Given the description of an element on the screen output the (x, y) to click on. 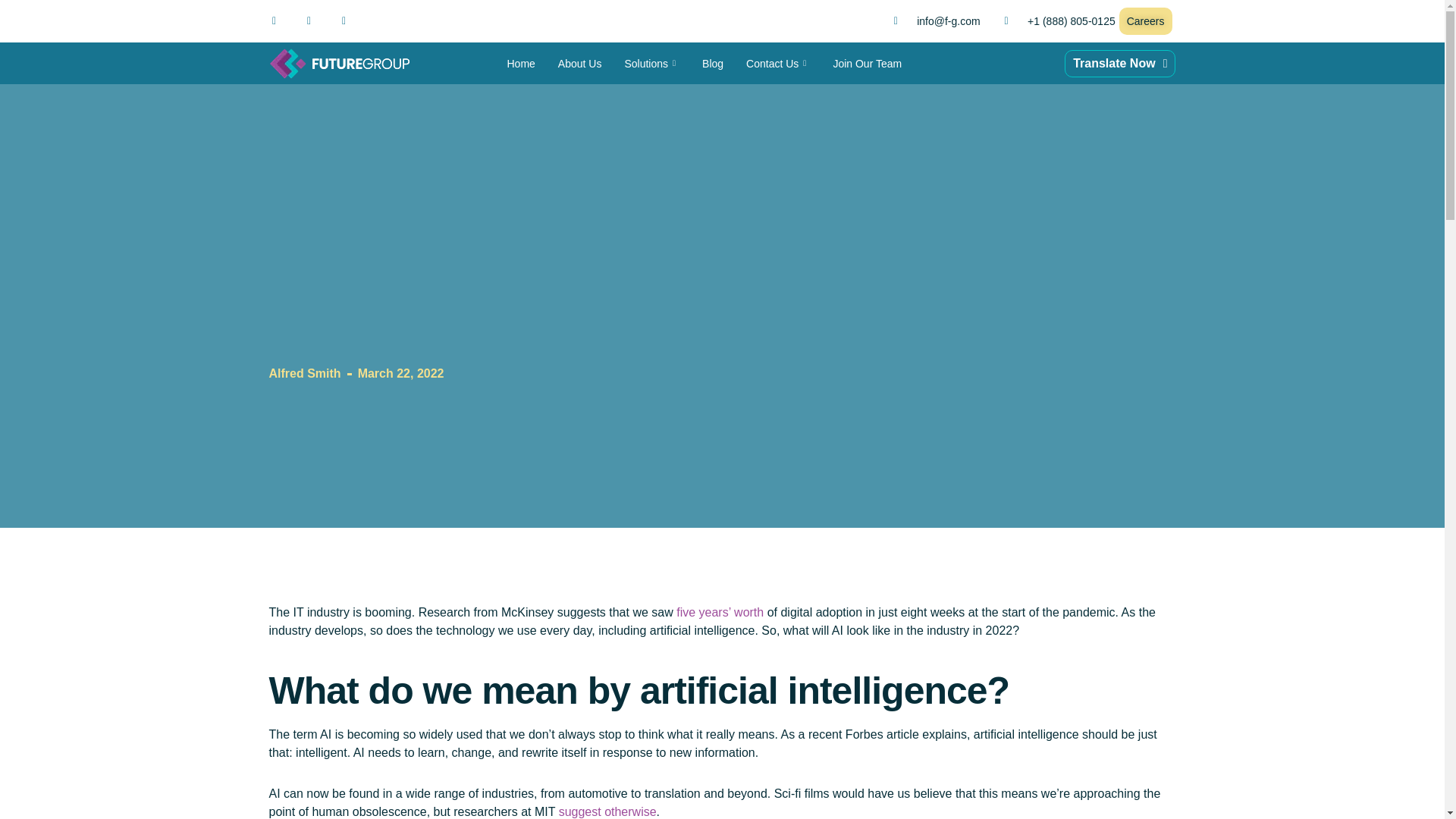
Home (521, 63)
Contact Us (778, 63)
Careers (1145, 21)
About Us (579, 63)
Blog (712, 63)
Solutions (651, 63)
Join Our Team (866, 63)
Translate Now (1119, 62)
